Given the description of an element on the screen output the (x, y) to click on. 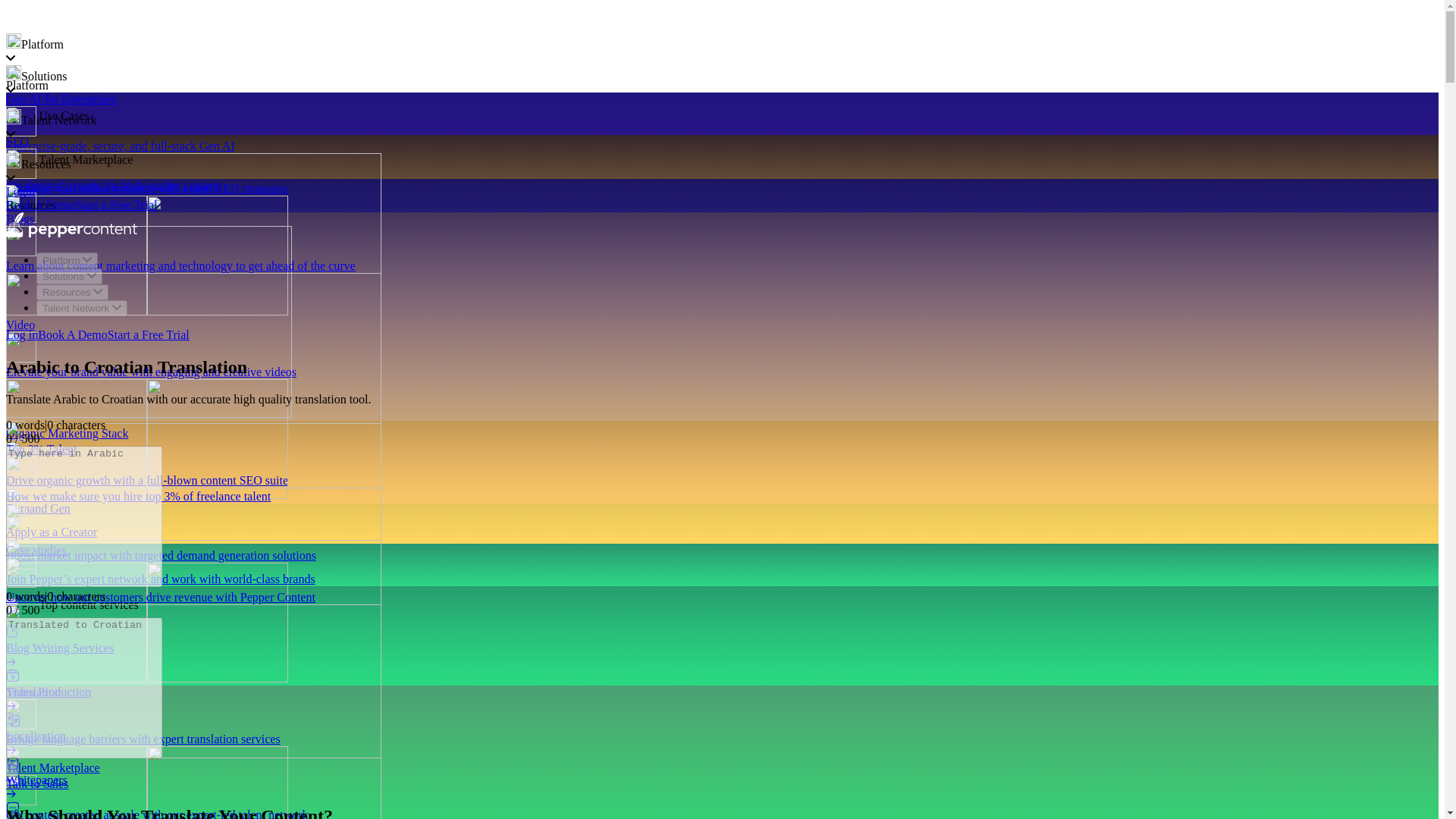
Homepage (69, 25)
Book A Demo (40, 205)
Login (19, 191)
Homepage (71, 232)
